Given the description of an element on the screen output the (x, y) to click on. 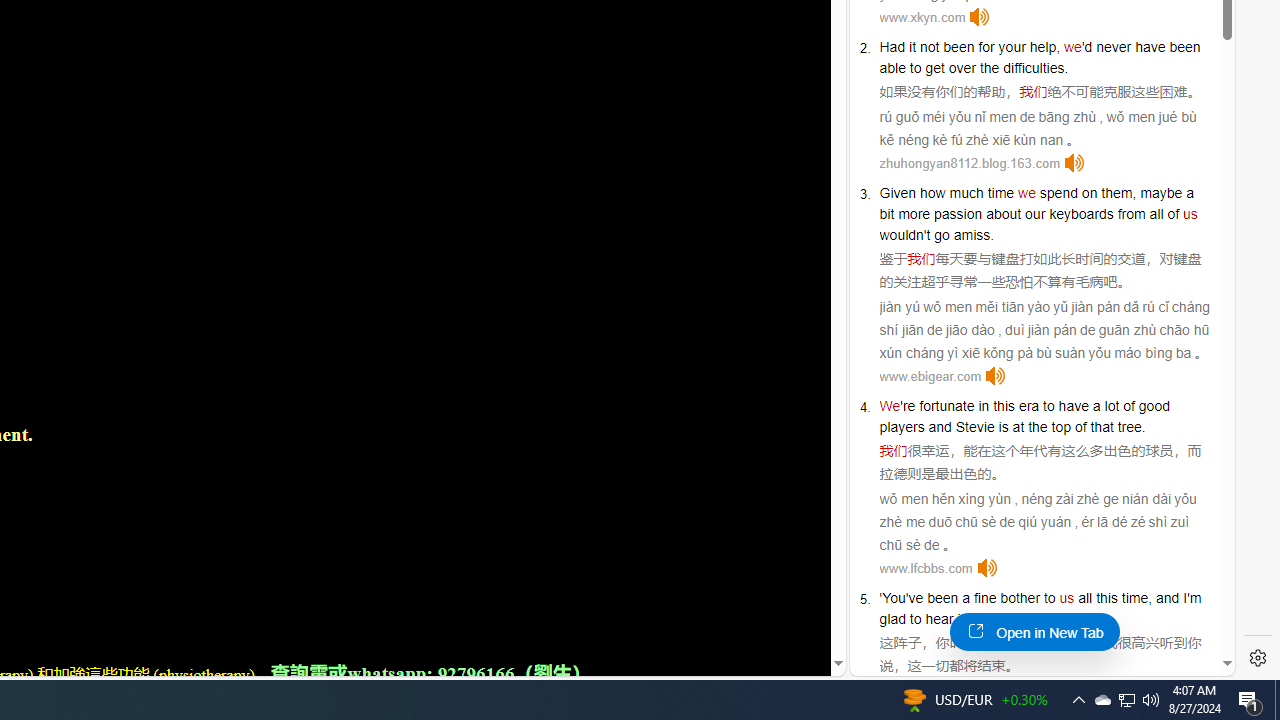
hear (939, 619)
about (1003, 213)
' (881, 597)
bother (1019, 597)
this (1106, 597)
